Given the description of an element on the screen output the (x, y) to click on. 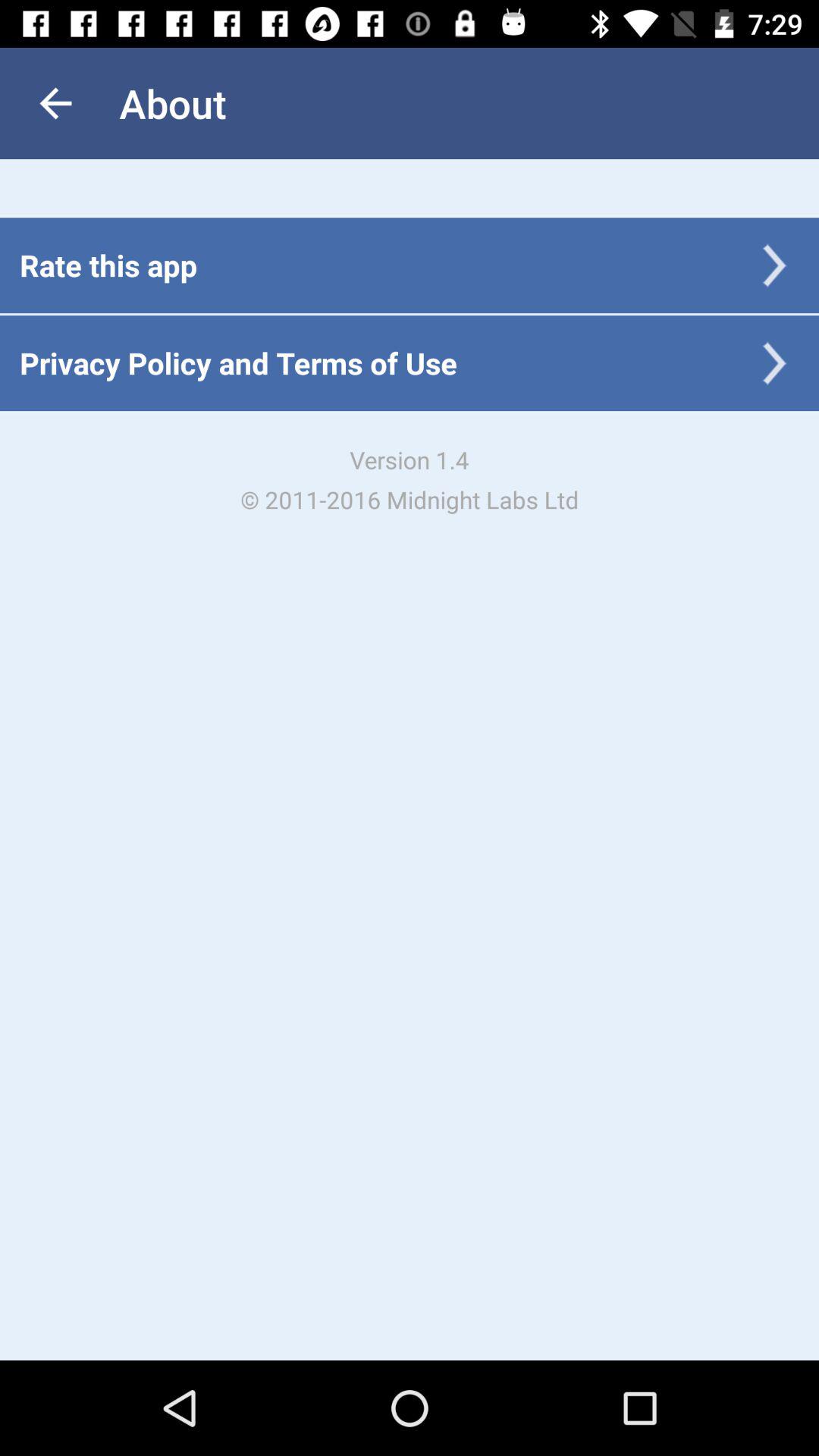
turn off privacy policy and (238, 362)
